Given the description of an element on the screen output the (x, y) to click on. 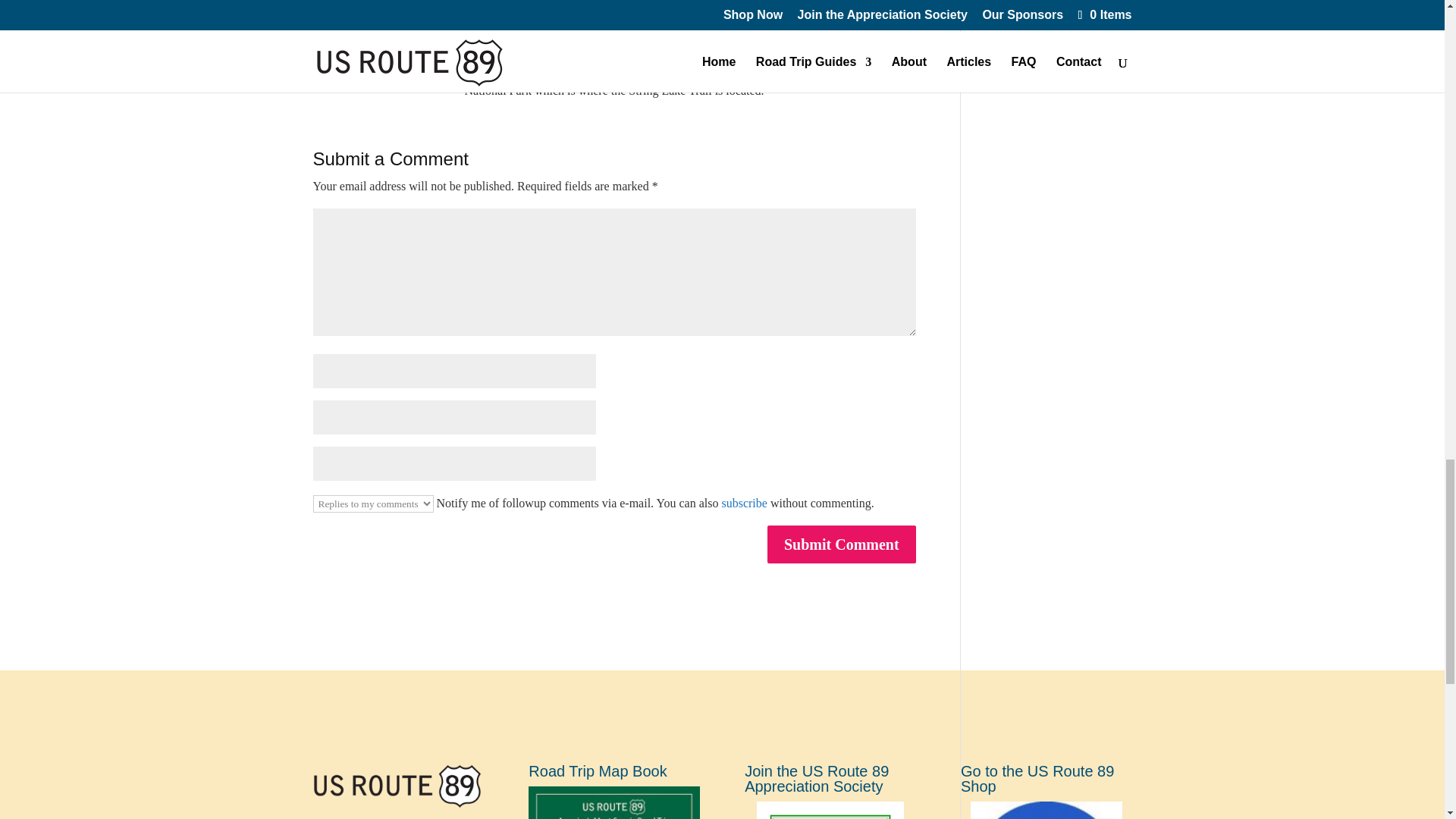
Submit Comment (841, 544)
